Given the description of an element on the screen output the (x, y) to click on. 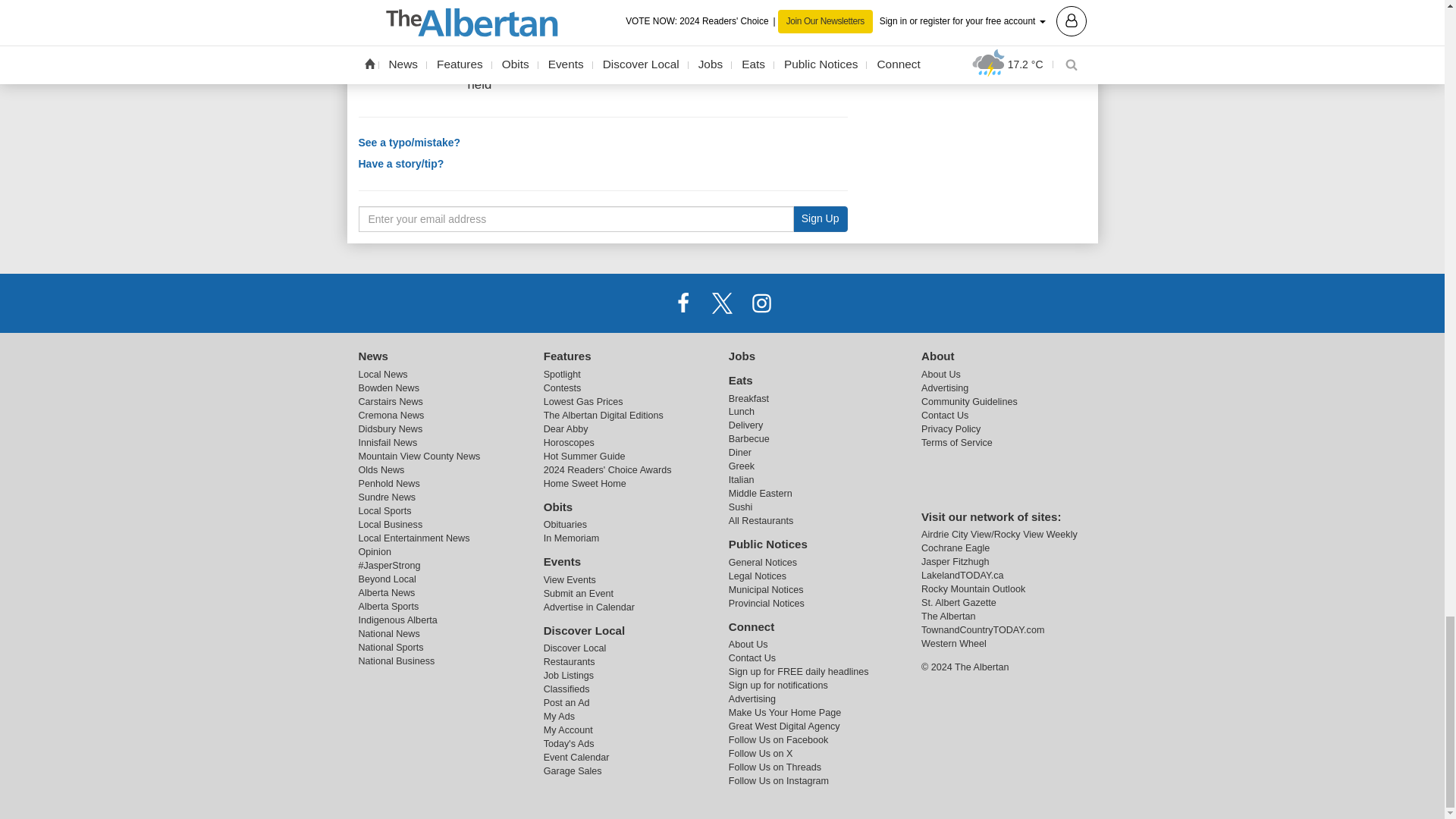
Facebook (683, 303)
X (721, 303)
Instagram (760, 303)
